Given the description of an element on the screen output the (x, y) to click on. 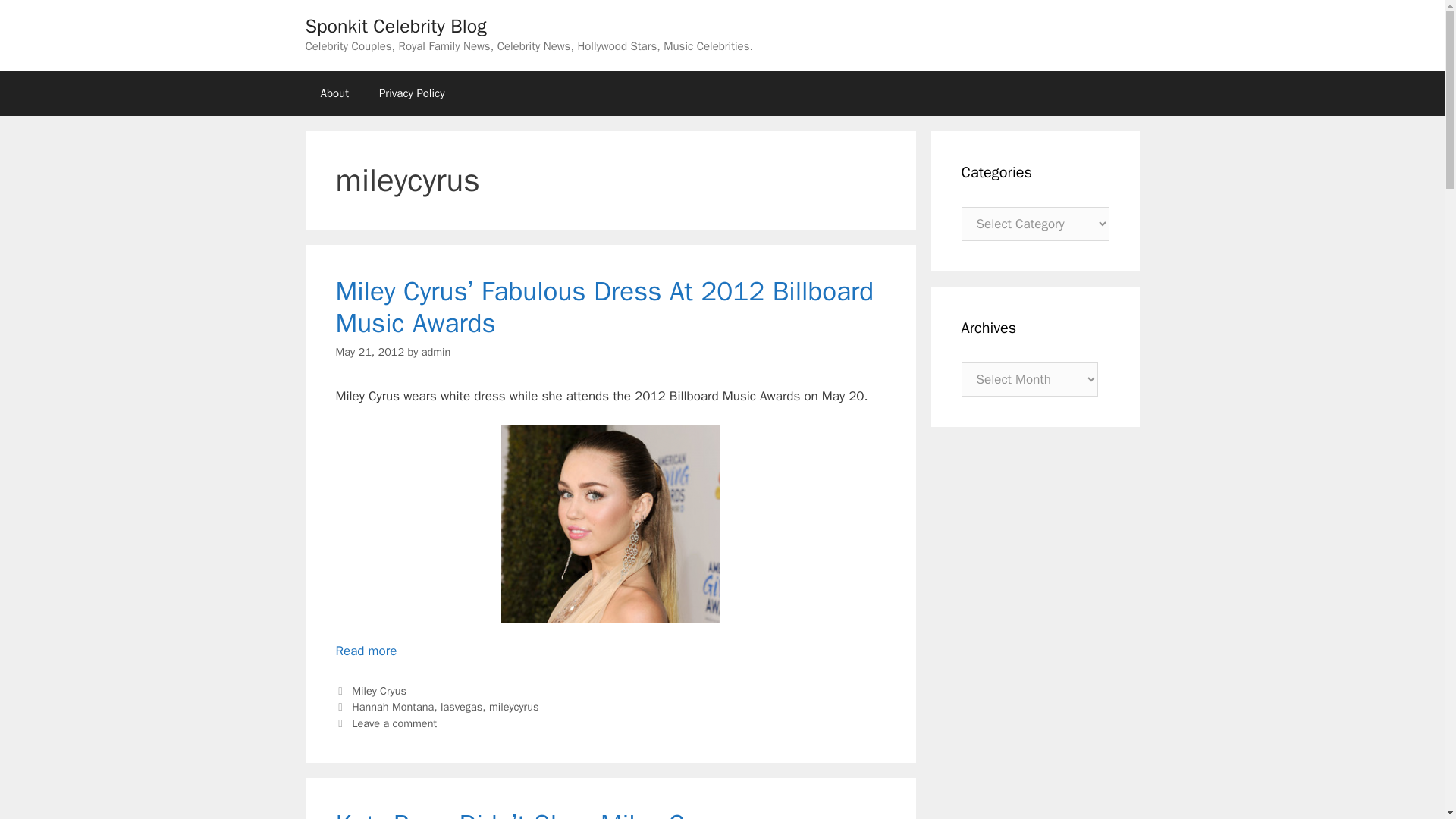
Read more (365, 650)
Sponkit Celebrity Blog (395, 25)
Miley Cryus (379, 690)
View all posts by admin (436, 351)
admin (436, 351)
About (333, 92)
Privacy Policy (412, 92)
Leave a comment (394, 723)
Miley Cyrus' Fabulous Dress At 2012 Billboard Music Awards (609, 523)
mileycyrus (513, 706)
lasvegas (461, 706)
Hannah Montana (392, 706)
